Given the description of an element on the screen output the (x, y) to click on. 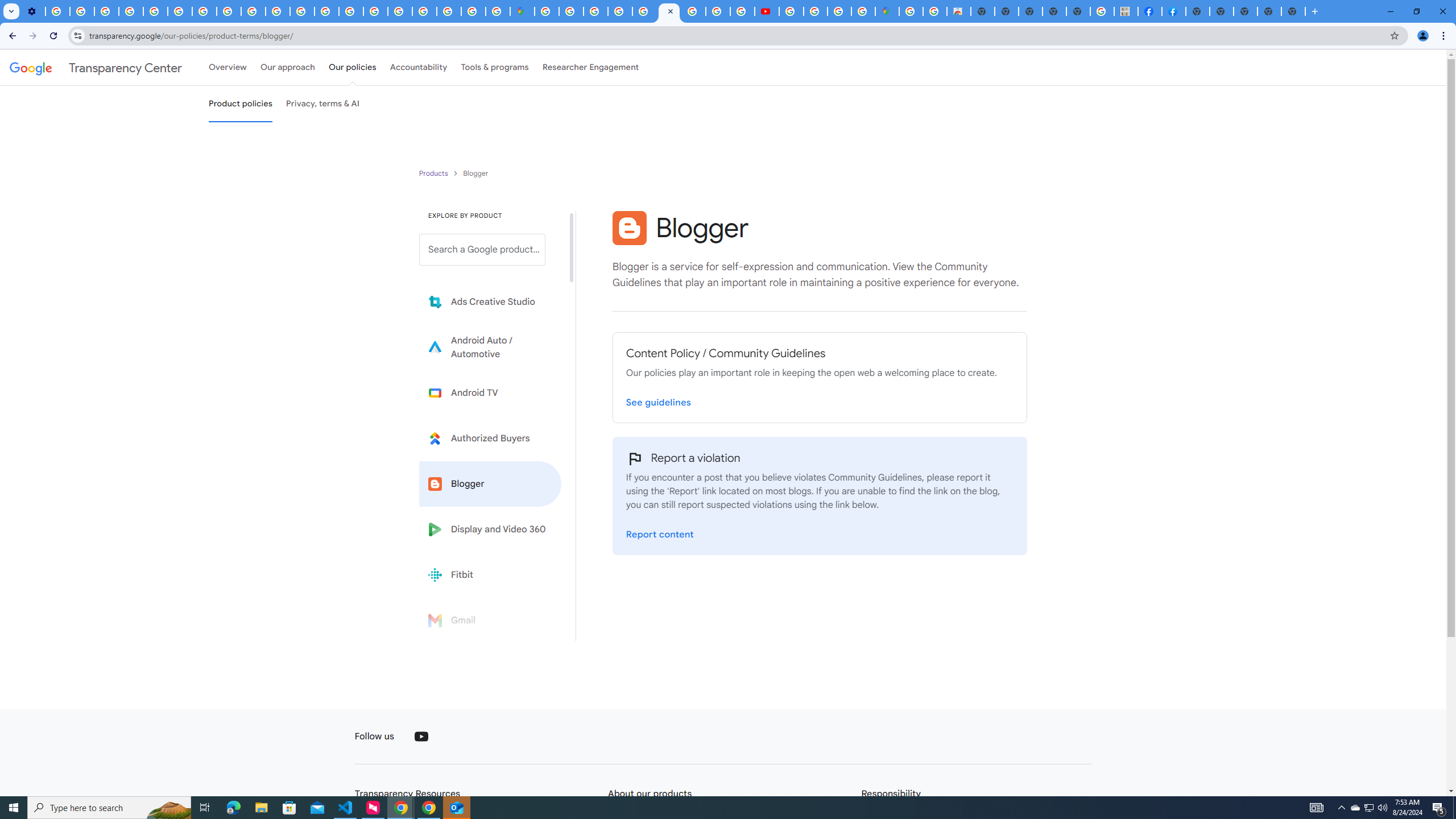
Blogger (490, 483)
Privacy Checkup (252, 11)
Privacy Help Center - Policies Help (692, 11)
Settings - Customize profile (33, 11)
Blogger (628, 227)
Learn more about Ads Creative Studio (490, 302)
Gmail (490, 619)
Google Maps (522, 11)
